Given the description of an element on the screen output the (x, y) to click on. 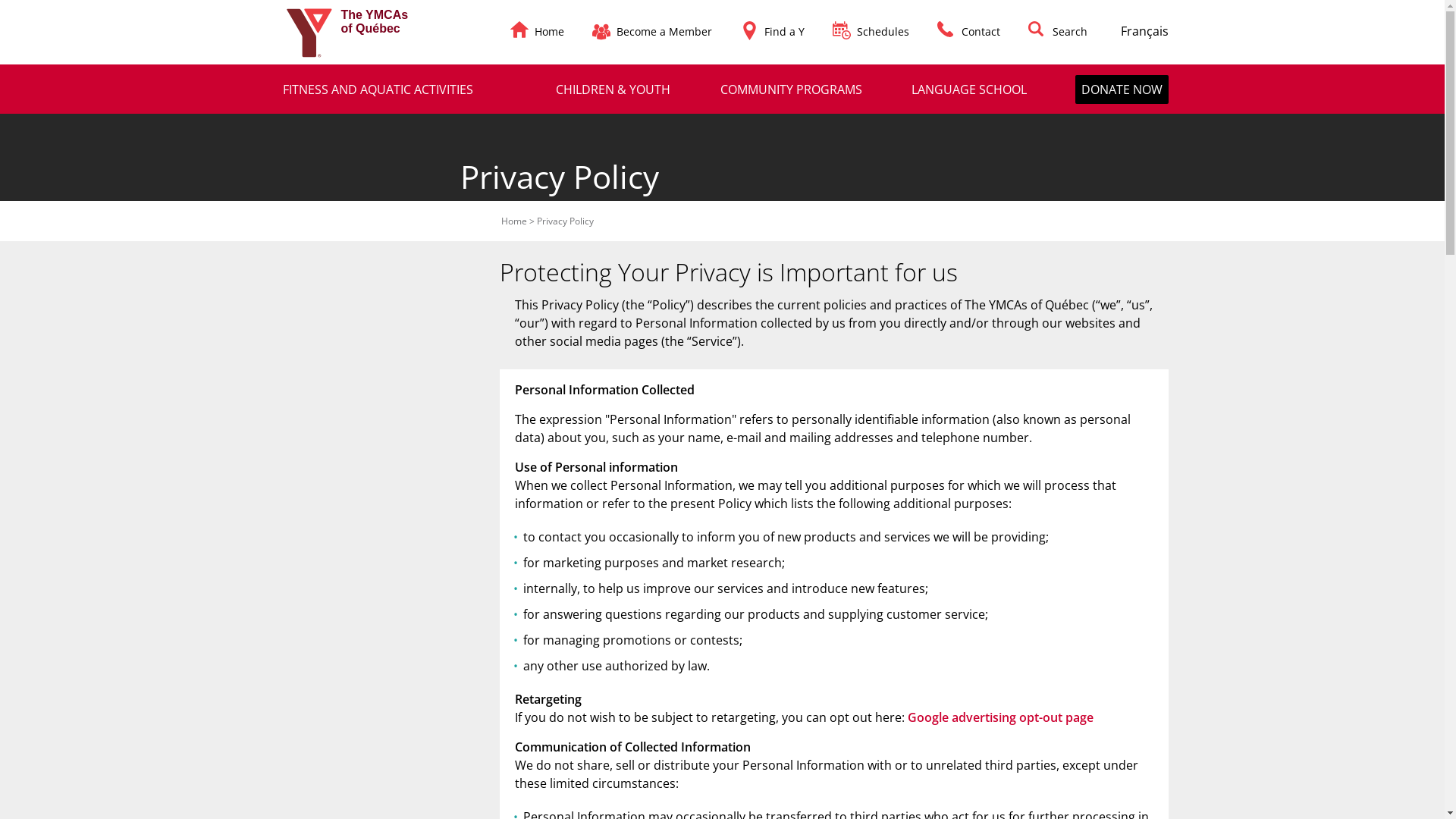
CHILDREN & YOUTH Element type: text (612, 89)
Home Element type: text (514, 220)
Home Element type: text (548, 31)
Schedules Element type: text (882, 31)
COMMUNITY PROGRAMS Element type: text (791, 89)
Contact Element type: text (980, 31)
Become a Member Element type: text (663, 31)
FITNESS AND AQUATIC ACTIVITIES Element type: text (377, 89)
Search Element type: text (1069, 31)
DONATE NOW Element type: text (1121, 89)
Find a Y Element type: text (784, 31)
LANGUAGE SCHOOL Element type: text (968, 89)
Google advertising opt-out page Element type: text (999, 717)
